Given the description of an element on the screen output the (x, y) to click on. 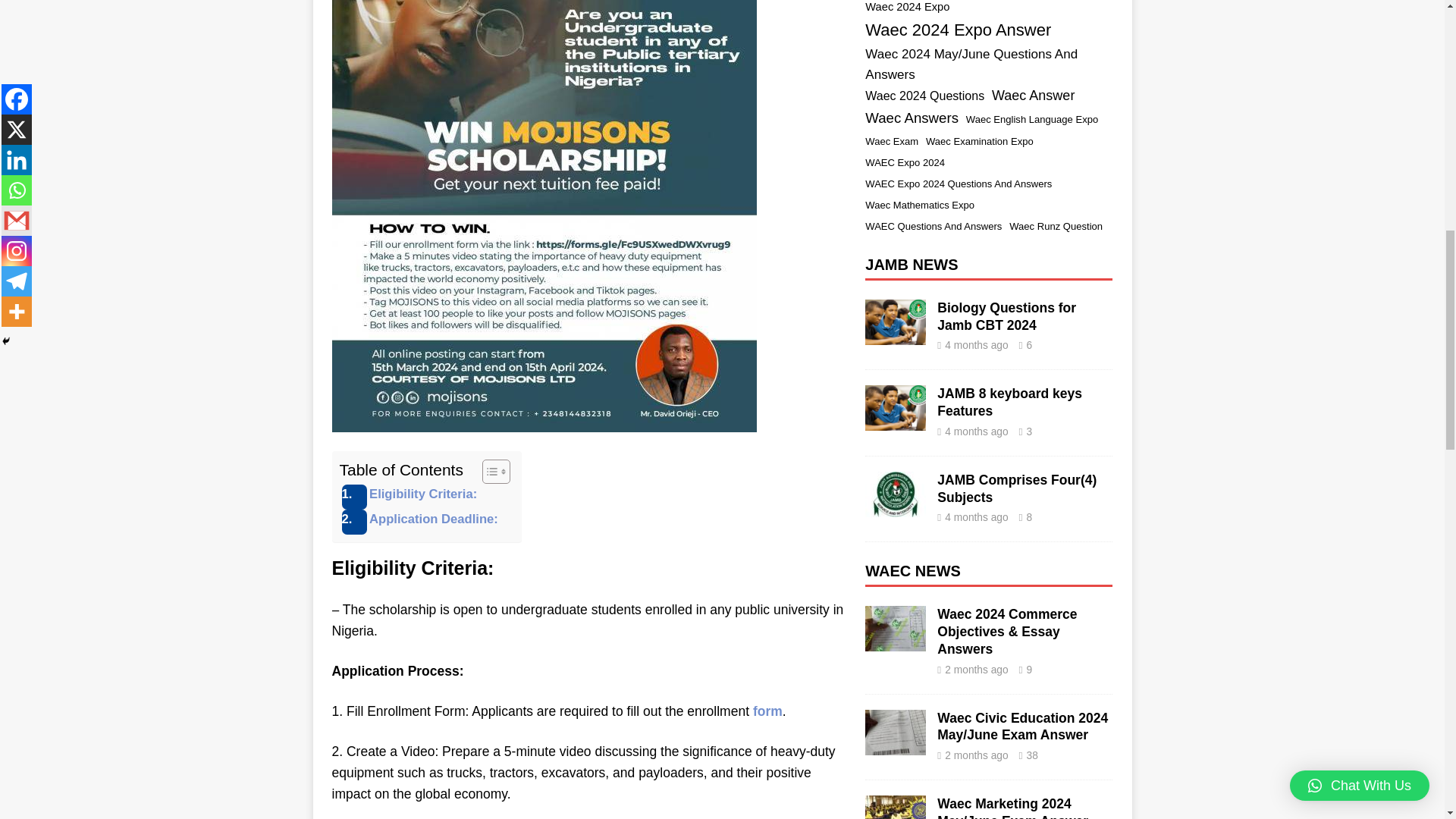
Eligibility Criteria: (417, 496)
form (767, 711)
Eligibility Criteria: (417, 496)
Application Deadline: (427, 521)
Application Deadline: (427, 521)
